Given the description of an element on the screen output the (x, y) to click on. 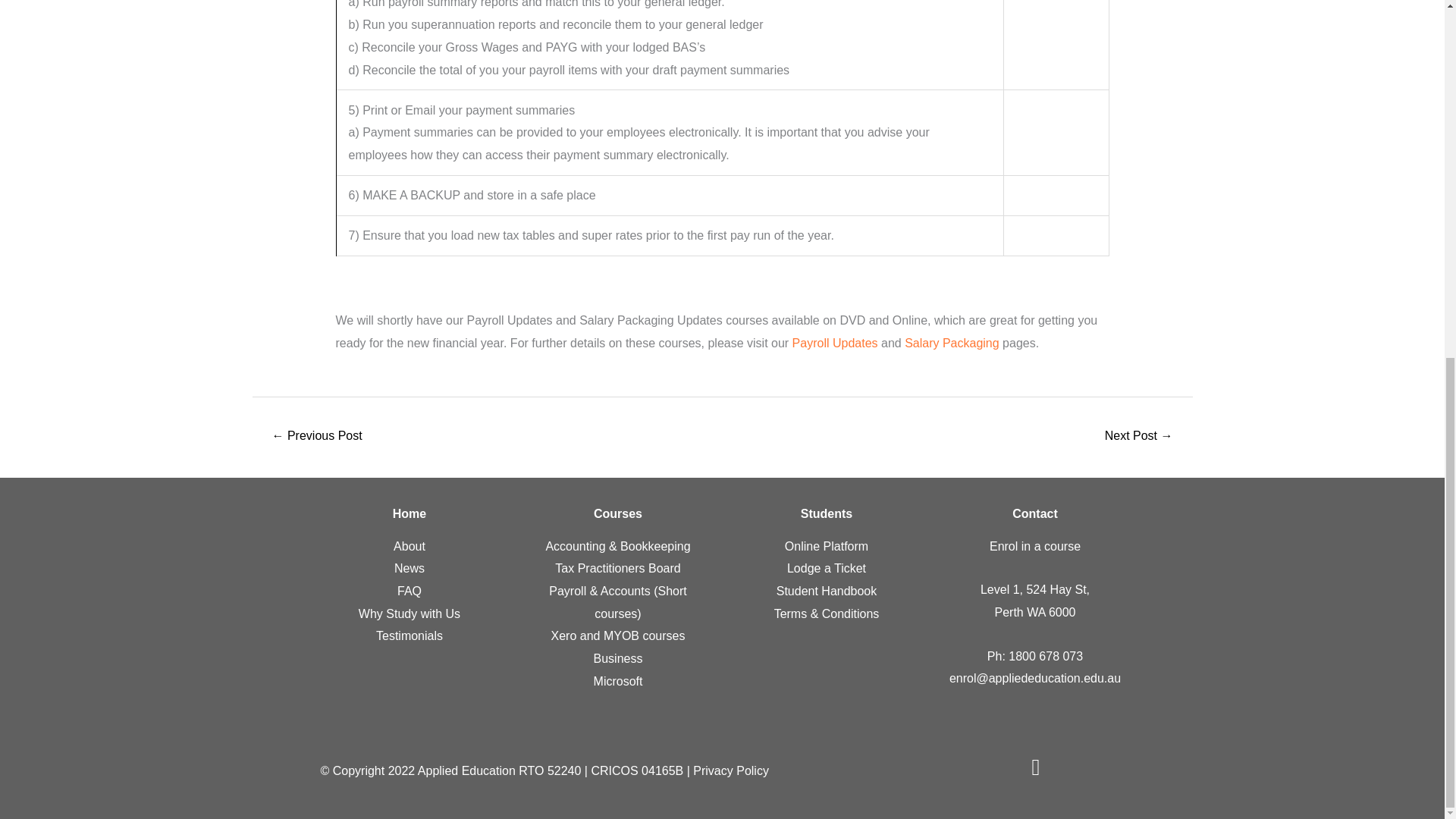
Information for Tax Financial Advisers (1138, 437)
Contact (1034, 513)
Fair Work minimum wage case review (316, 437)
Courses (618, 513)
Home (409, 513)
